Given the description of an element on the screen output the (x, y) to click on. 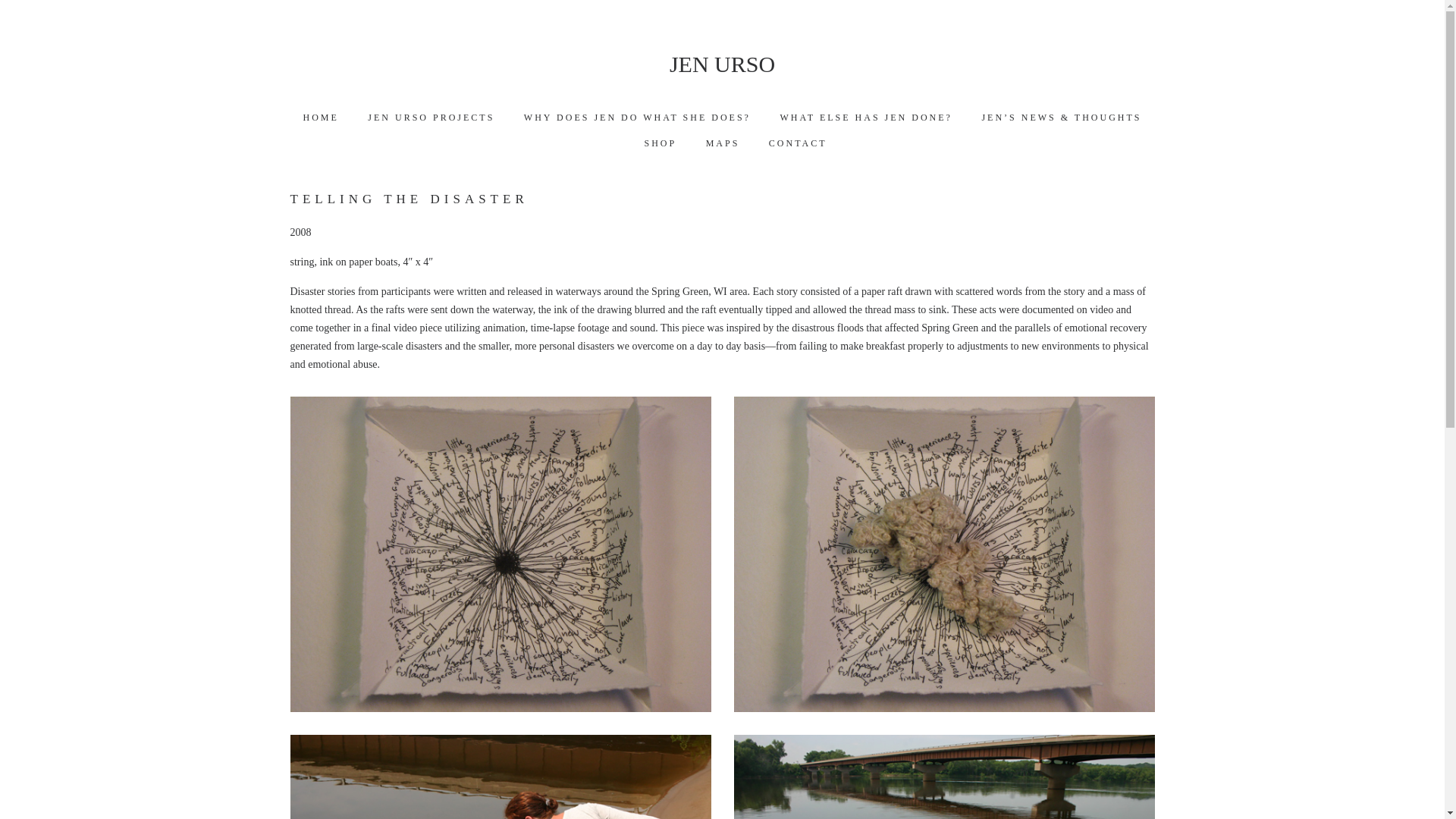
Telling Disaster raft detail (499, 553)
CONTACT (797, 143)
WHAT ELSE HAS JEN DONE? (865, 117)
MAPS (722, 143)
Telling Disaster public detail (943, 776)
JEN URSO (721, 64)
Telling Disaster raft detail with string (943, 553)
JEN URSO PROJECTS (431, 117)
Telling Disaster public detail (499, 776)
SHOP (660, 143)
WHY DOES JEN DO WHAT SHE DOES? (637, 117)
HOME (319, 117)
